Given the description of an element on the screen output the (x, y) to click on. 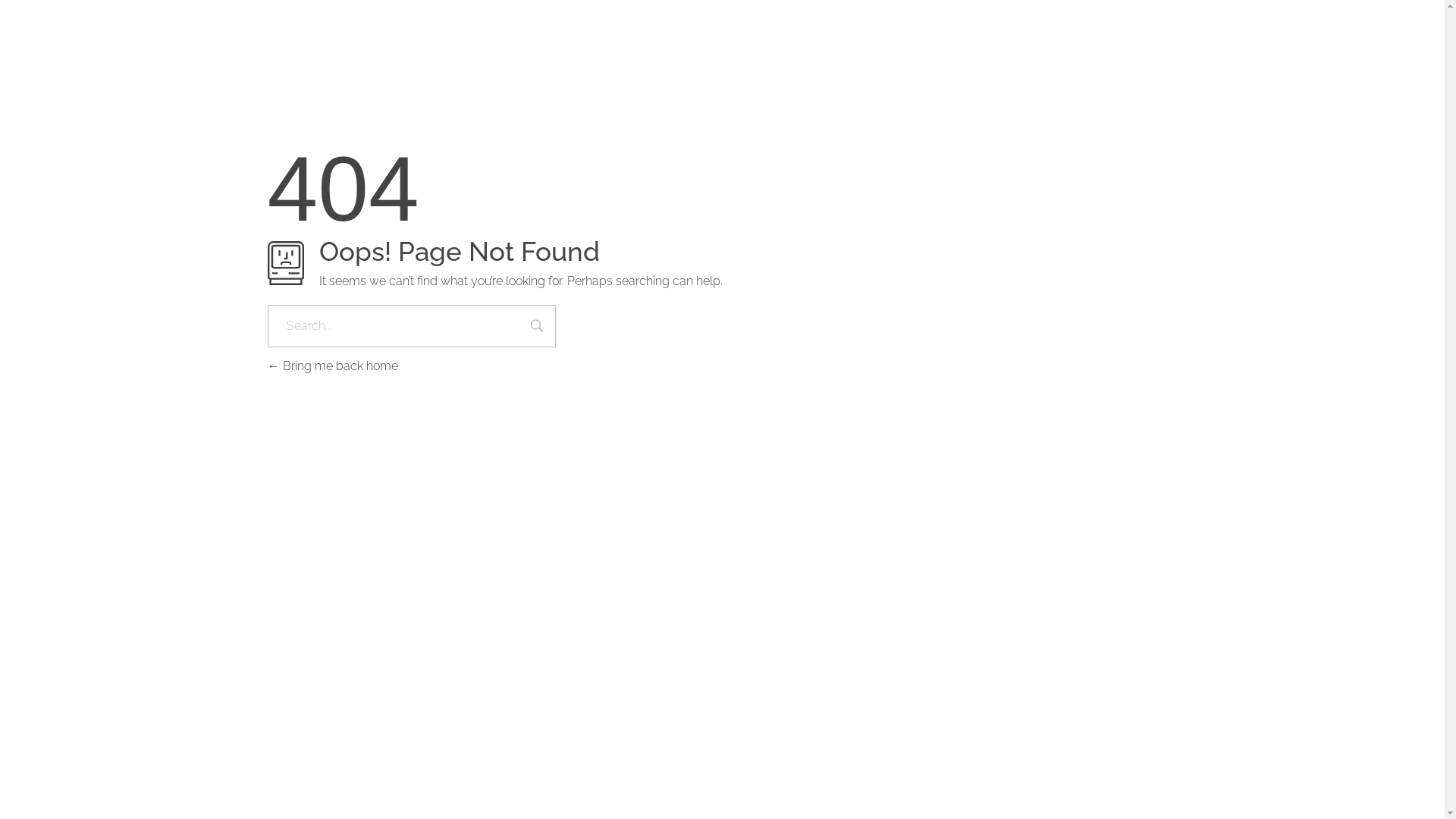
Bring me back home Element type: text (331, 365)
Search Element type: text (536, 327)
